Given the description of an element on the screen output the (x, y) to click on. 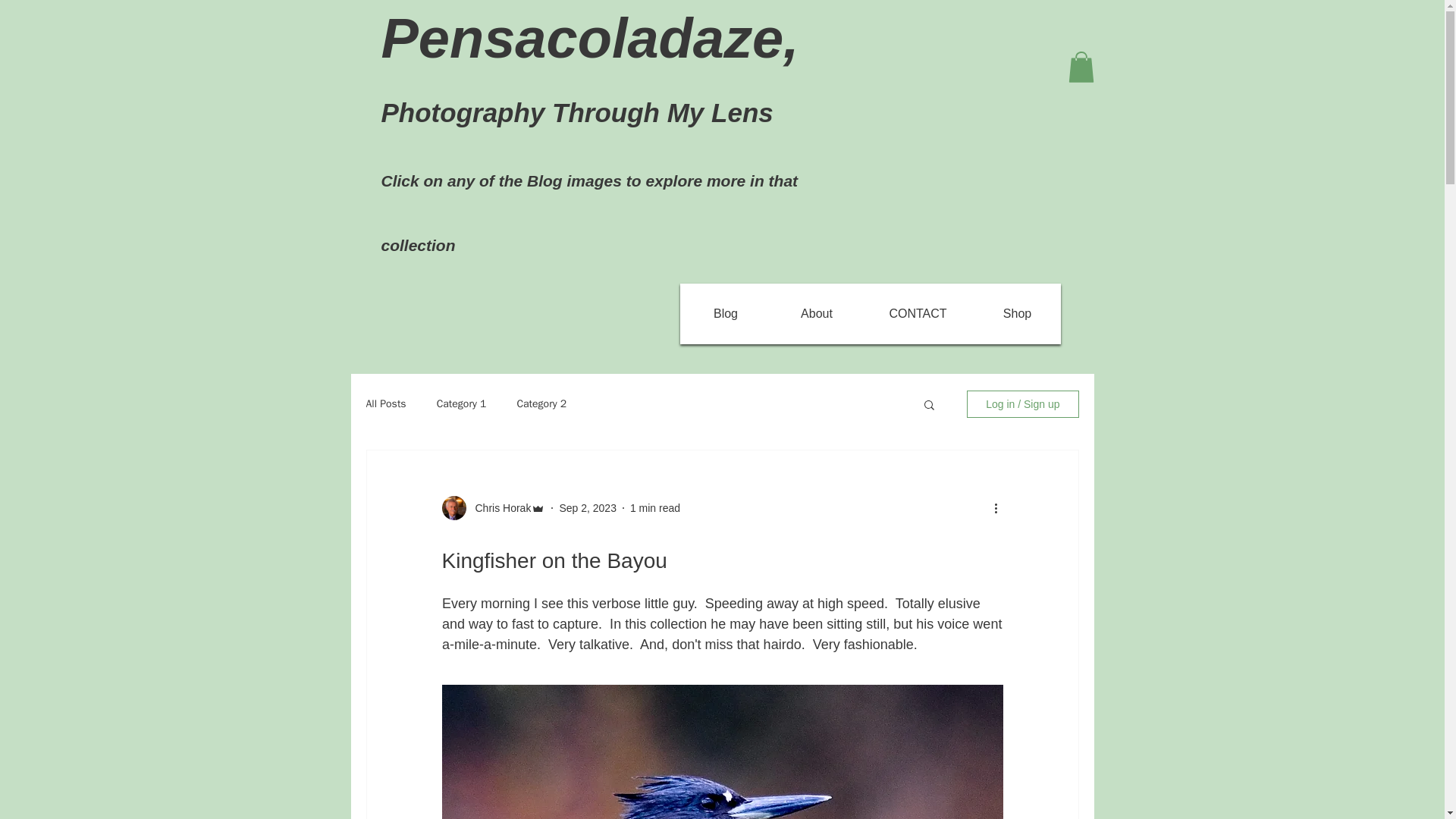
Blog (726, 314)
Shop (1016, 314)
Category 1 (461, 404)
All Posts (385, 404)
Category 2 (541, 404)
CONTACT (918, 314)
1 min read (654, 508)
Chris Horak (498, 508)
Sep 2, 2023 (587, 508)
About (816, 314)
